Given the description of an element on the screen output the (x, y) to click on. 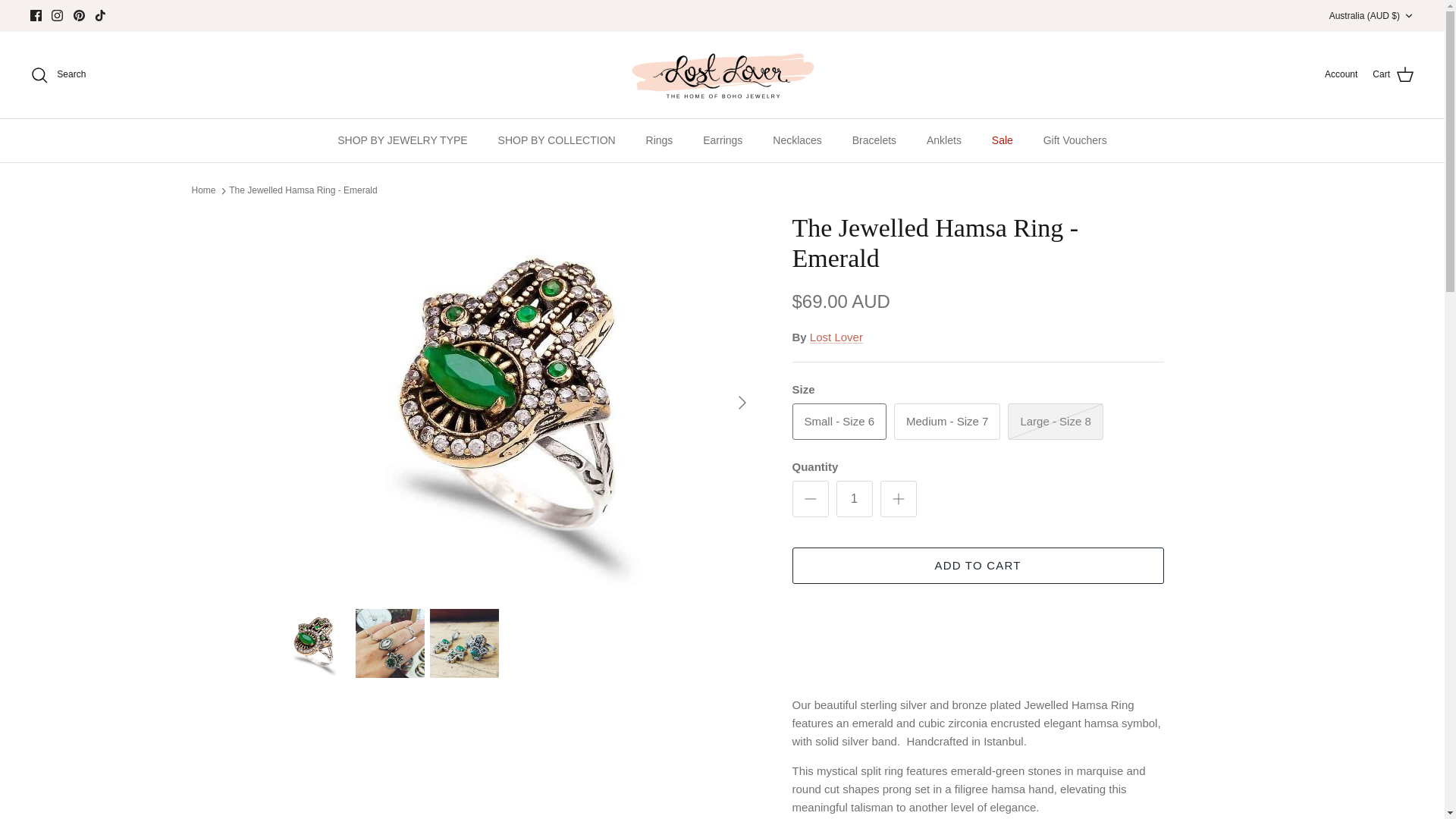
SHOP BY COLLECTION Element type: text (556, 140)
Anklets Element type: text (944, 140)
Rings Element type: text (659, 140)
Necklaces Element type: text (797, 140)
ADD TO CART Element type: text (977, 565)
Plus Element type: text (897, 498)
Instagram Element type: text (56, 15)
Lost Lover Element type: text (835, 336)
RIGHT Element type: text (741, 402)
The Jewelled Hamsa Ring - Emerald Element type: text (302, 190)
Sale Element type: text (1002, 140)
Minus Element type: text (809, 498)
Bracelets Element type: text (874, 140)
Lost Lover Element type: hover (722, 75)
Australia (AUD $)
Down Element type: text (1371, 15)
Pinterest Element type: text (78, 15)
Home Element type: text (203, 190)
Gift Vouchers Element type: text (1074, 140)
SHOP BY JEWELRY TYPE Element type: text (401, 140)
Earrings Element type: text (722, 140)
Account Element type: text (1340, 74)
Search Element type: text (57, 74)
Facebook Element type: text (35, 15)
Cart Element type: text (1393, 74)
